Given the description of an element on the screen output the (x, y) to click on. 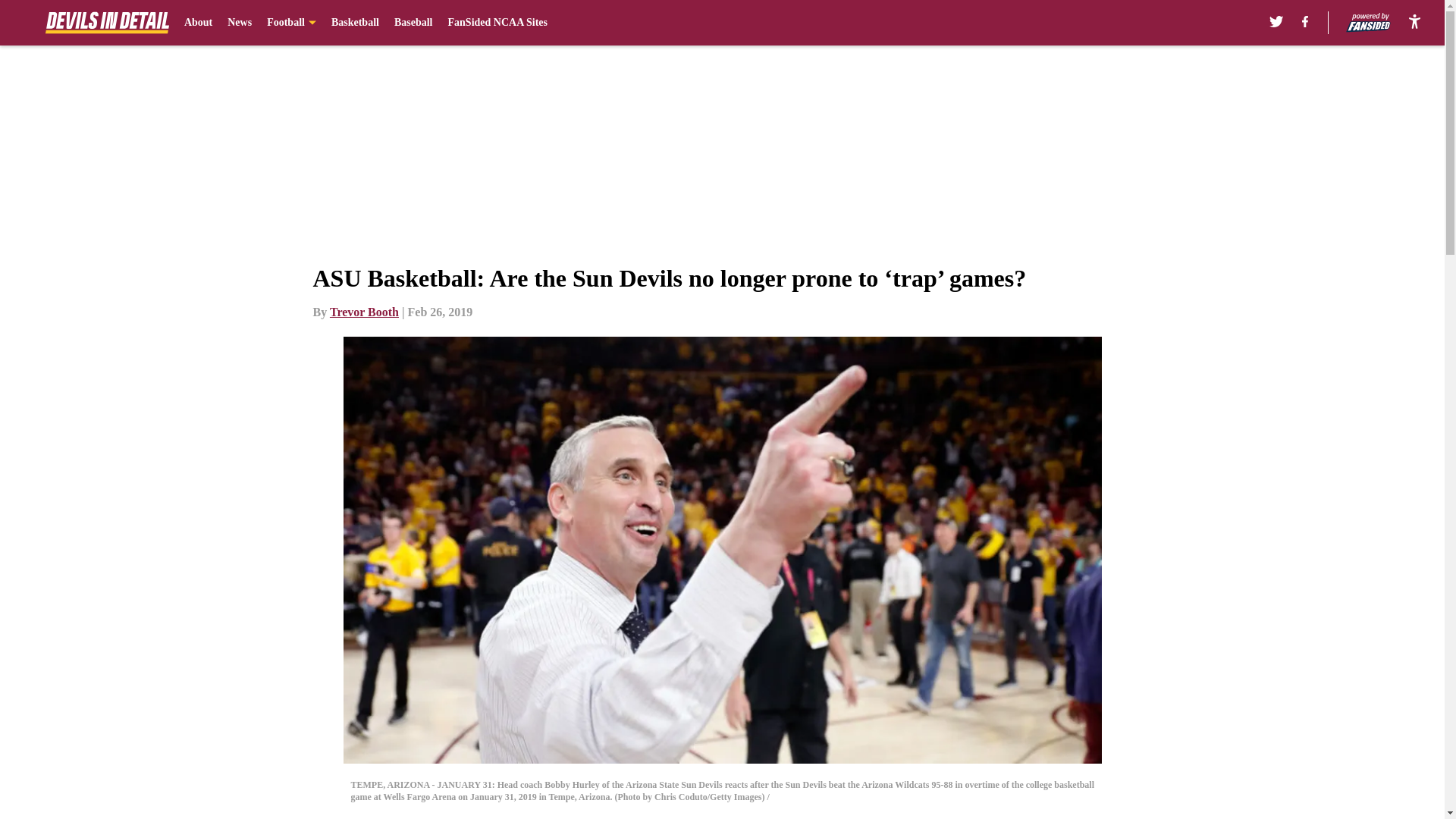
News (239, 22)
FanSided NCAA Sites (497, 22)
Basketball (354, 22)
Baseball (413, 22)
Trevor Booth (364, 311)
About (198, 22)
